Given the description of an element on the screen output the (x, y) to click on. 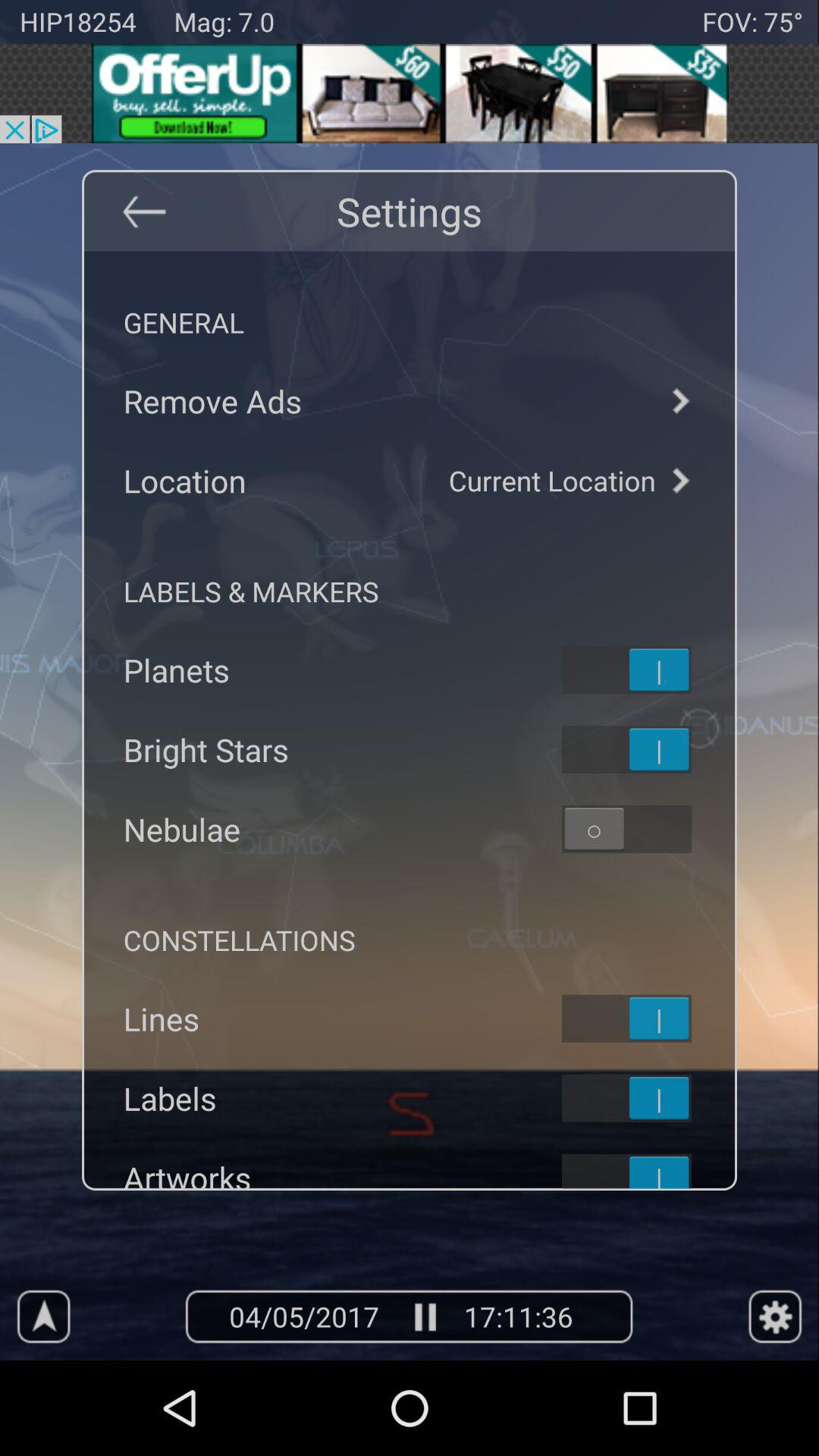
artworks option (646, 1169)
